Given the description of an element on the screen output the (x, y) to click on. 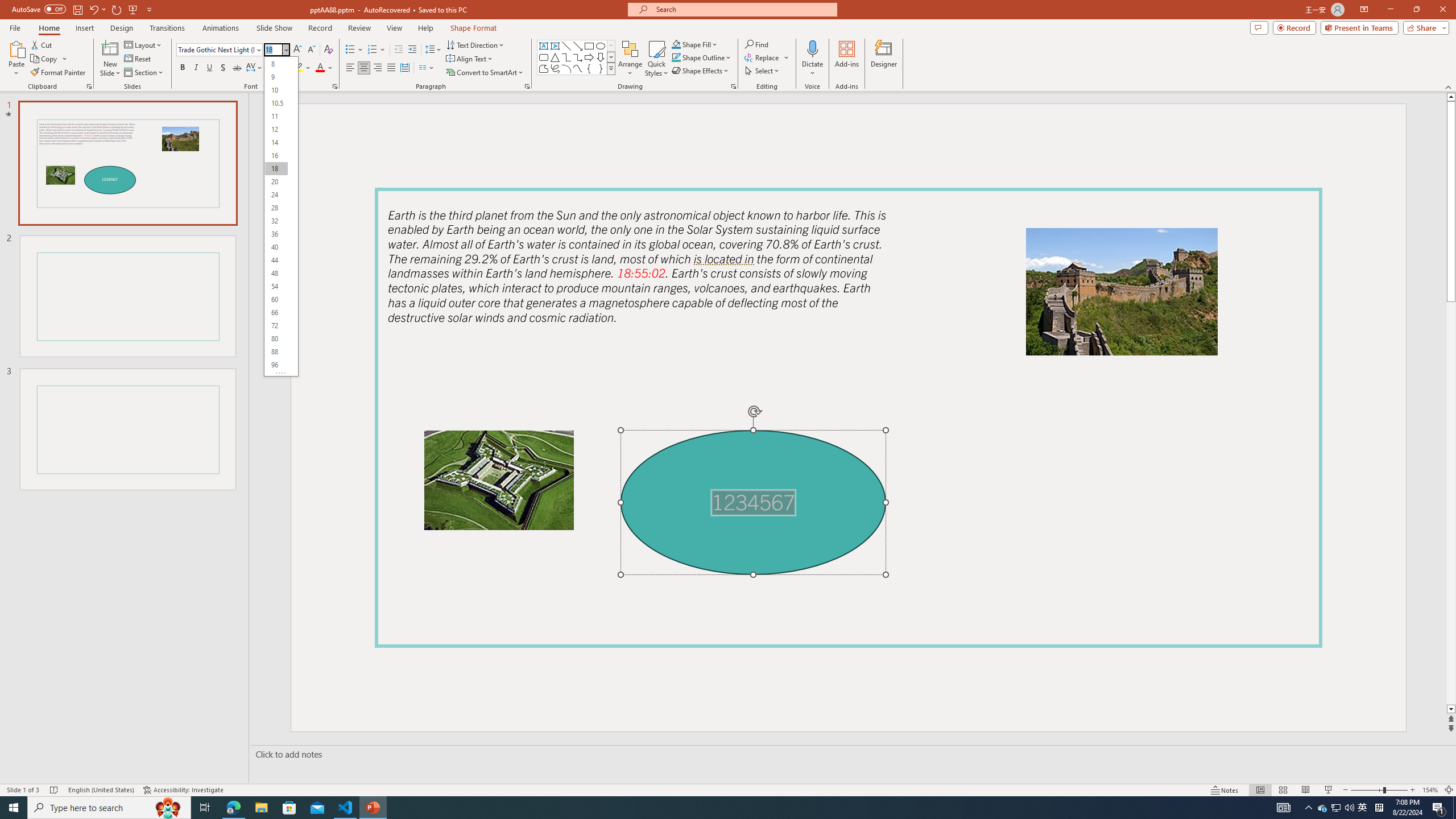
Shape Fill Aqua, Accent 2 (675, 44)
